Given the description of an element on the screen output the (x, y) to click on. 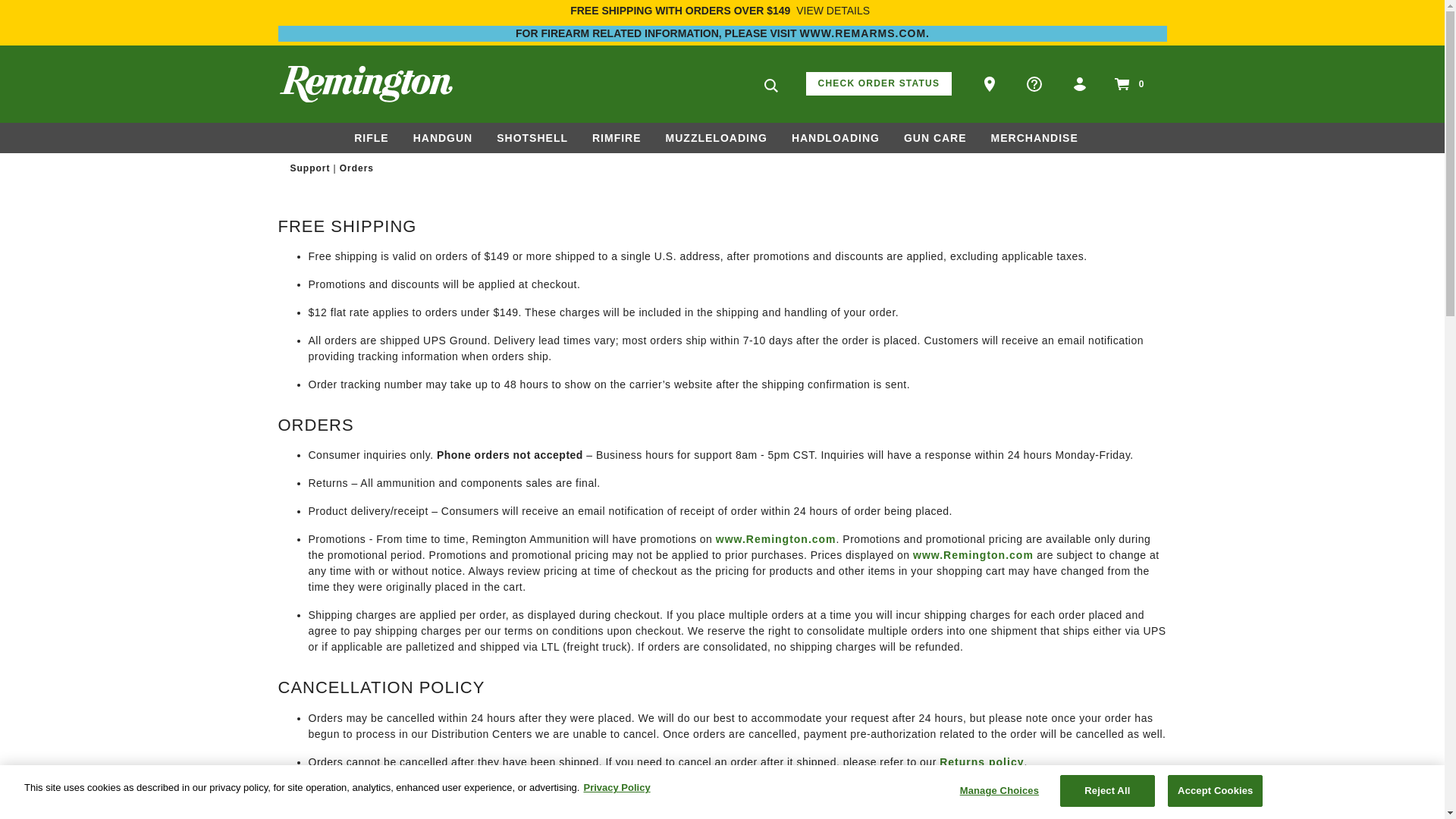
WWW.REMARMS.COM (862, 33)
0 (1126, 84)
Remington Home (365, 83)
VIEW DETAILS (832, 10)
RIFLE (370, 138)
Cart 0 Items (1126, 84)
Ammo Store Locator (991, 82)
CHECK ORDER STATUS (879, 83)
